Given the description of an element on the screen output the (x, y) to click on. 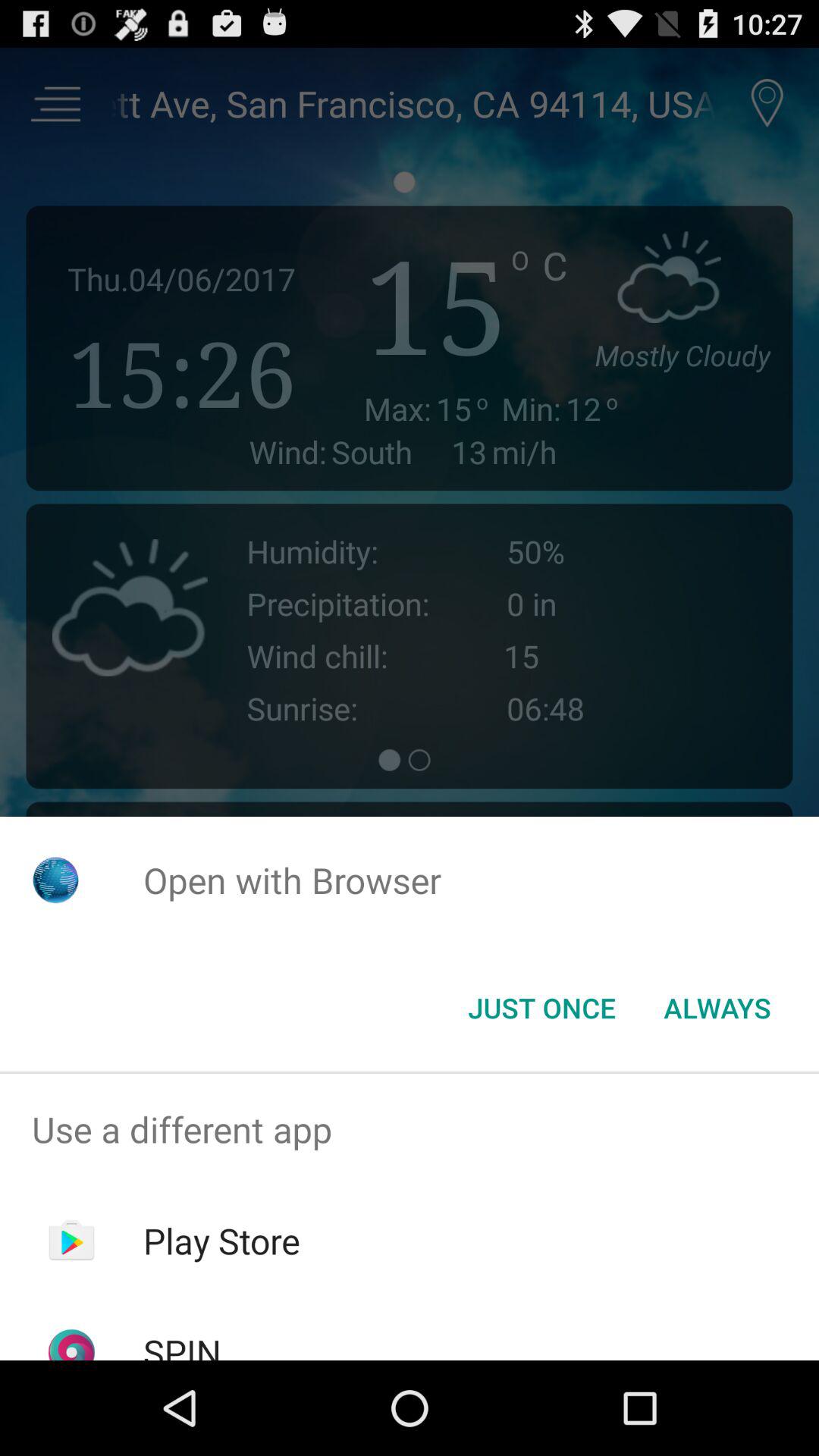
select the item below the play store (182, 1344)
